Given the description of an element on the screen output the (x, y) to click on. 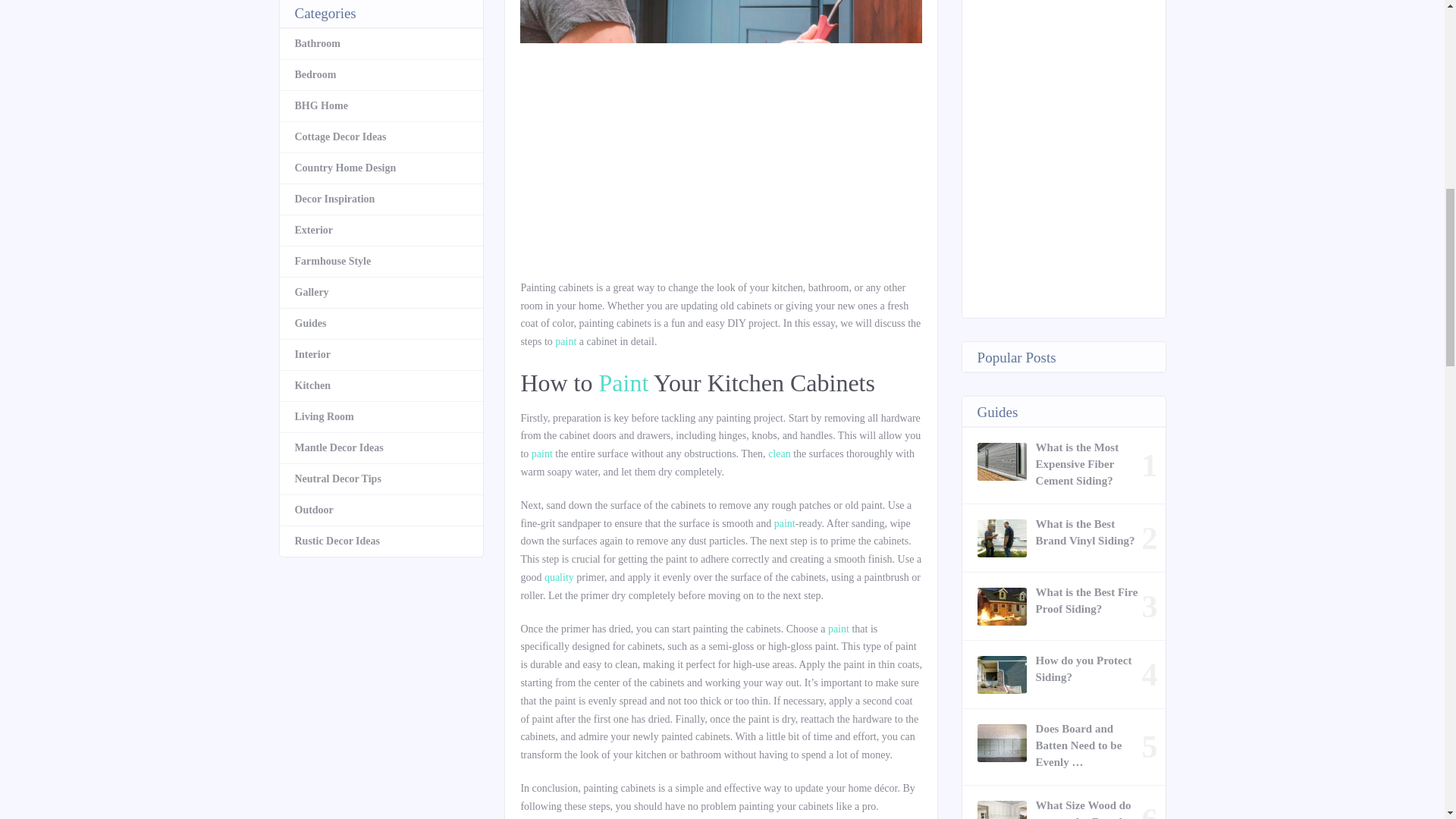
Posts tagged with paint (623, 382)
Posts tagged with paint (542, 453)
Posts tagged with clean (779, 453)
paint (838, 628)
Posts tagged with paint (565, 341)
quality (558, 577)
Posts tagged with paint (838, 628)
Posts tagged with paint (784, 523)
clean (779, 453)
Posts tagged with quality (558, 577)
paint (565, 341)
Advertisement (720, 166)
paint (542, 453)
paint (784, 523)
Paint (623, 382)
